Given the description of an element on the screen output the (x, y) to click on. 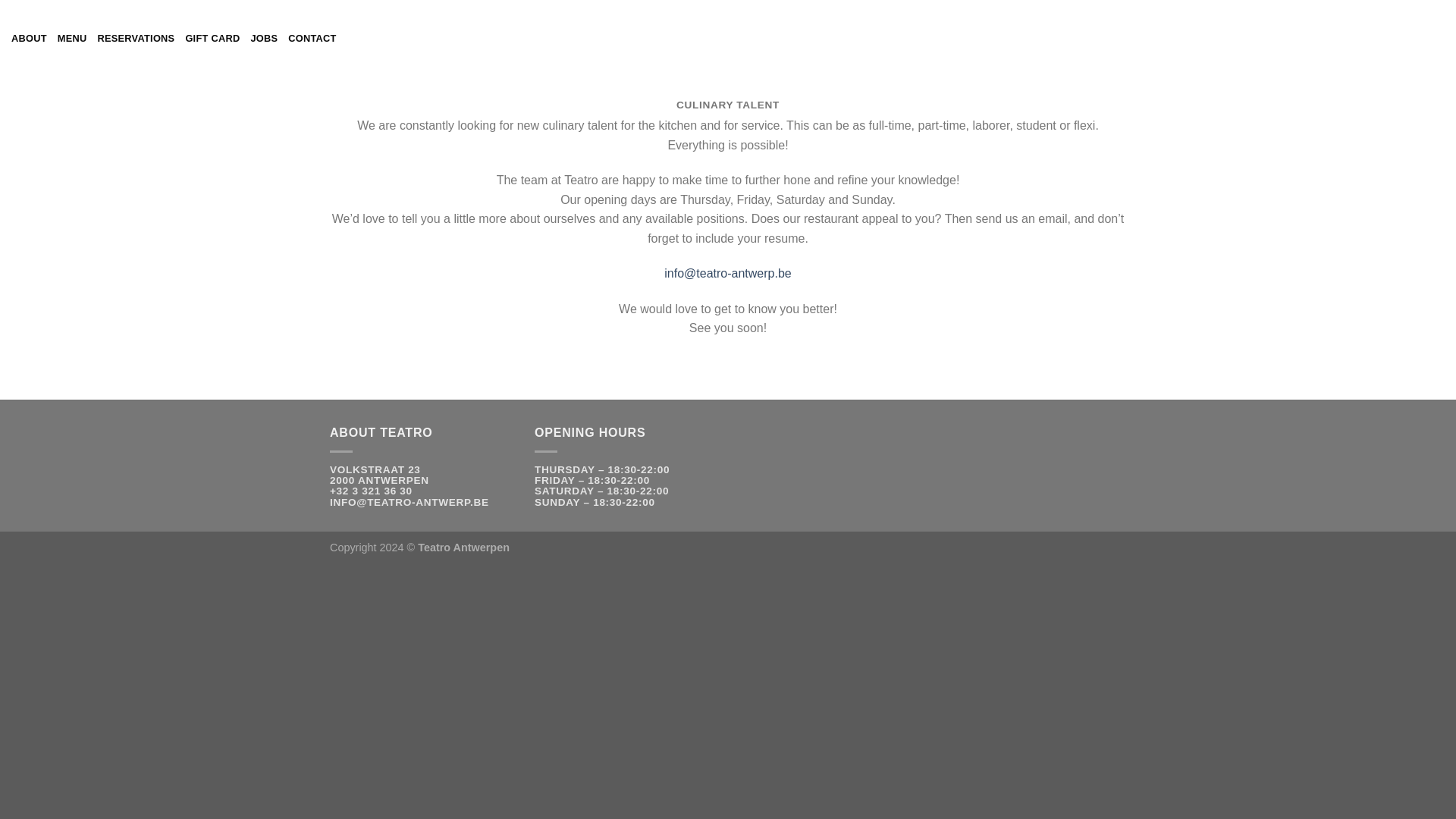
Restaurant Teatro - Fine Dining (727, 38)
RESERVATIONS (135, 38)
CONTACT (312, 38)
ABOUT (28, 38)
MENU (72, 38)
JOBS (264, 38)
GIFT CARD (212, 38)
